Given the description of an element on the screen output the (x, y) to click on. 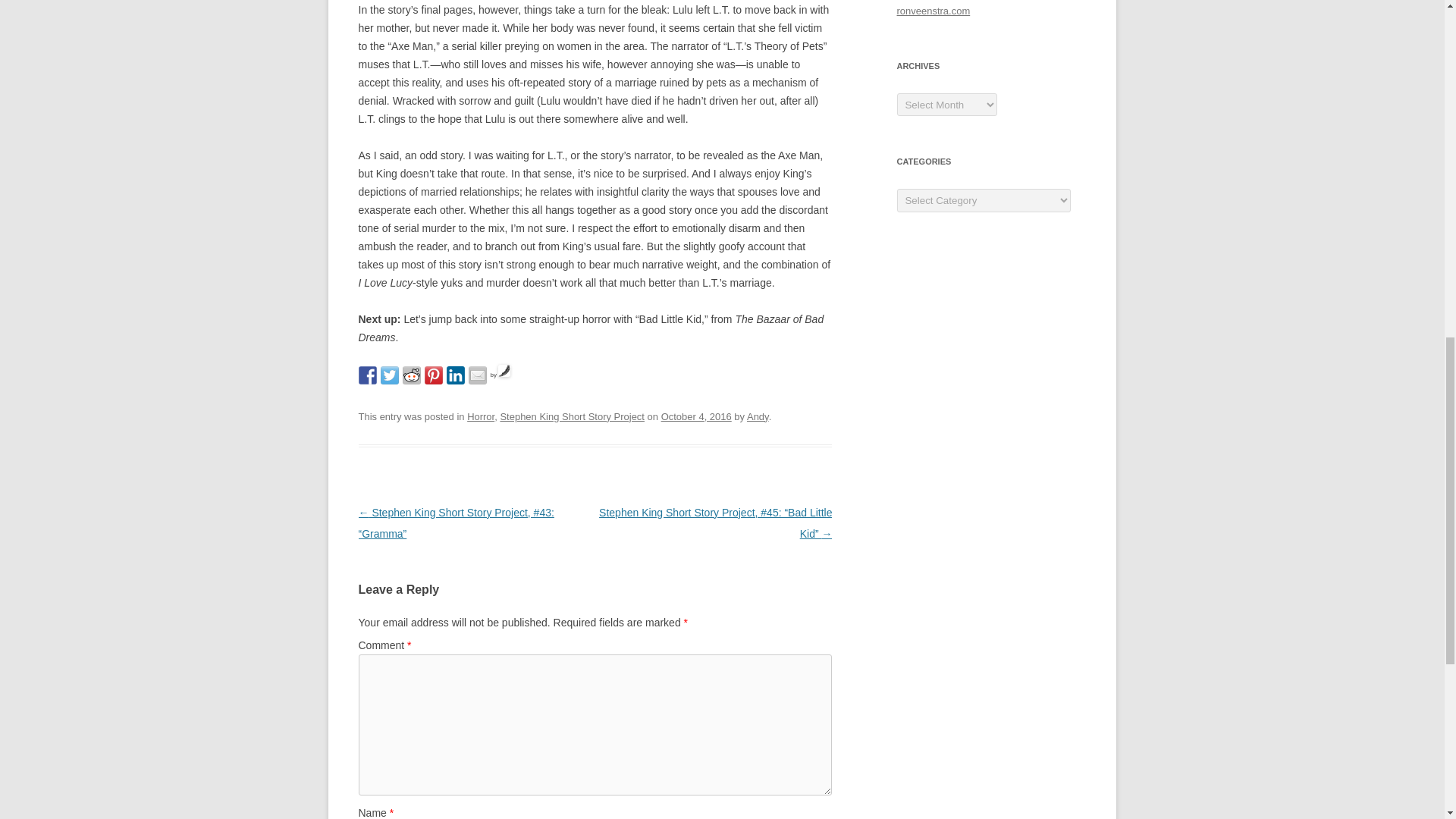
Pin it with Pinterest (433, 375)
Andy (757, 416)
Stephen King Short Story Project (572, 416)
by (500, 374)
WordPress Social Media Feather (500, 374)
Share on Twitter (389, 375)
October 4, 2016 (696, 416)
Share on Linkedin (454, 375)
Share on Reddit (410, 375)
Share on Facebook (366, 375)
11:07 pm (696, 416)
Horror (481, 416)
Share by email (477, 375)
